Given the description of an element on the screen output the (x, y) to click on. 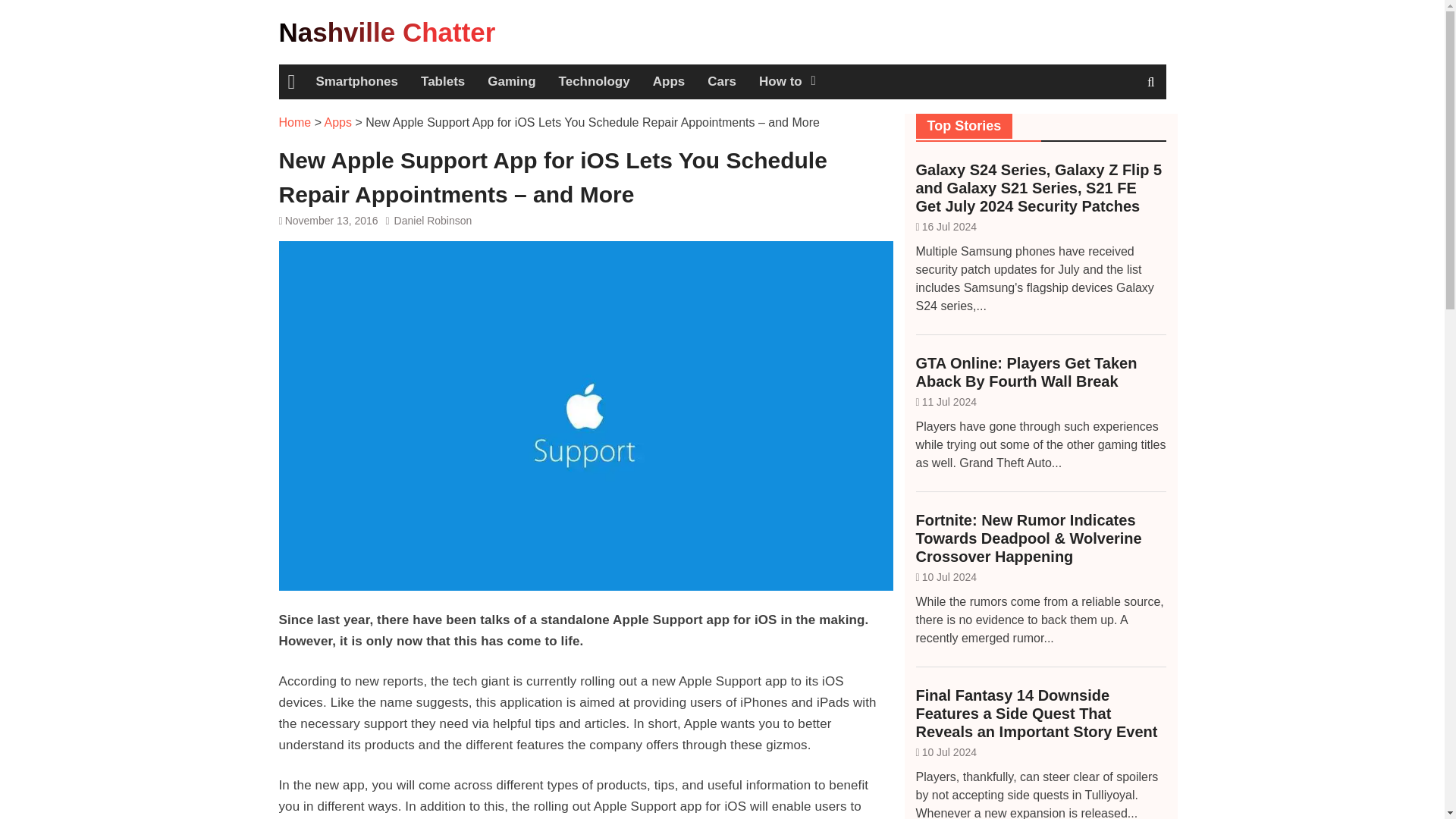
Smartphones (356, 81)
Gaming (511, 81)
Home (295, 122)
Apps (338, 122)
Tablets (442, 81)
Daniel Robinson (432, 220)
GTA Online: Players Get Taken Aback By Fourth Wall Break (1040, 371)
How to (786, 81)
Cars (721, 81)
Technology (594, 81)
Apps (669, 81)
Nashville Chatter (387, 31)
November 13, 2016 (331, 220)
